Given the description of an element on the screen output the (x, y) to click on. 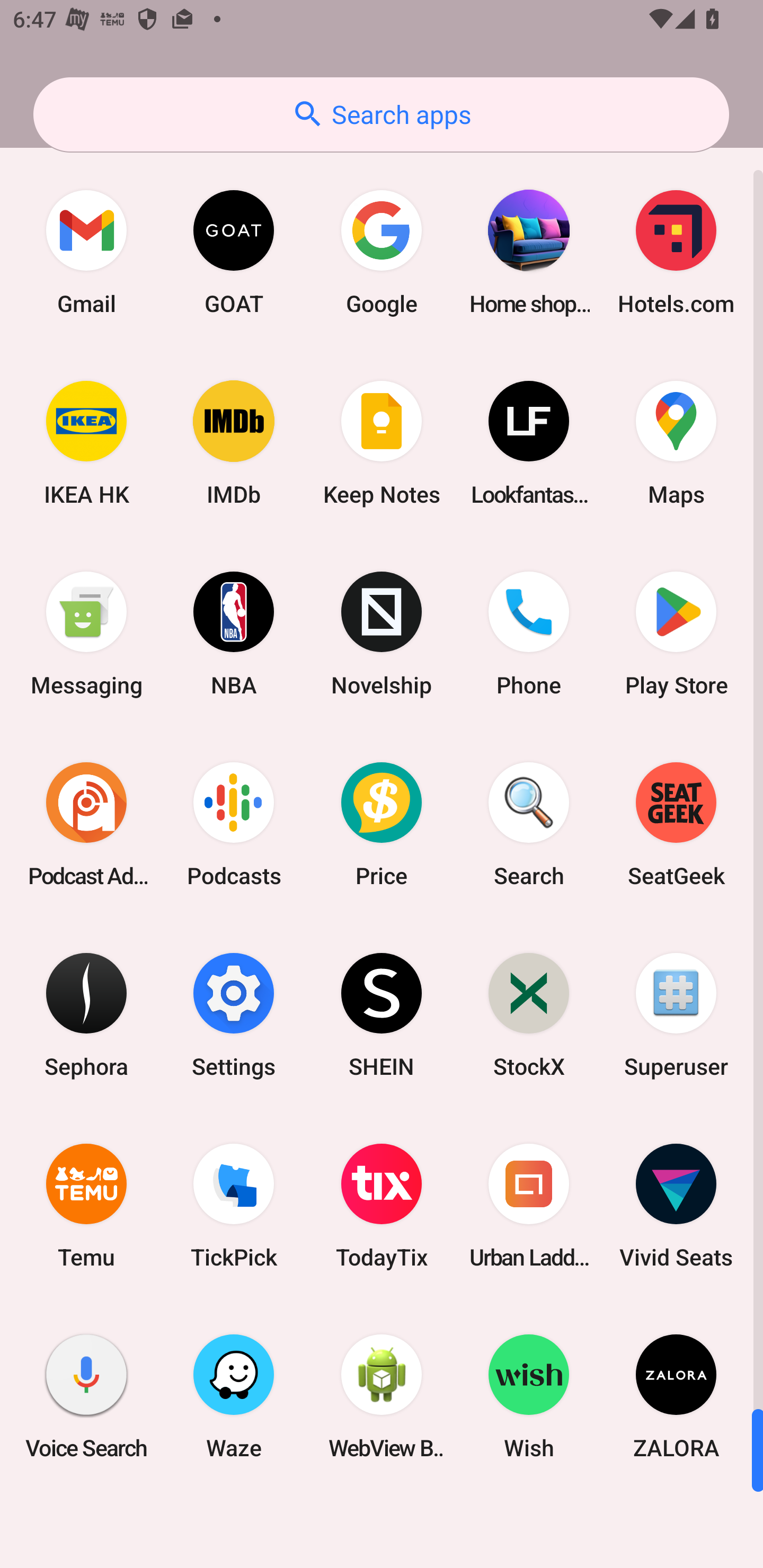
  Search apps (381, 114)
Gmail (86, 252)
GOAT (233, 252)
Google (381, 252)
Home shopping (528, 252)
Hotels.com (676, 252)
IKEA HK (86, 442)
IMDb (233, 442)
Keep Notes (381, 442)
Lookfantastic (528, 442)
Maps (676, 442)
Messaging (86, 633)
NBA (233, 633)
Novelship (381, 633)
Phone (528, 633)
Play Store (676, 633)
Podcast Addict (86, 823)
Podcasts (233, 823)
Price (381, 823)
Search (528, 823)
SeatGeek (676, 823)
Sephora (86, 1014)
Settings (233, 1014)
SHEIN (381, 1014)
StockX (528, 1014)
Superuser (676, 1014)
Temu (86, 1205)
TickPick (233, 1205)
TodayTix (381, 1205)
Urban Ladder (528, 1205)
Vivid Seats (676, 1205)
Voice Search (86, 1396)
Waze (233, 1396)
WebView Browser Tester (381, 1396)
Wish (528, 1396)
ZALORA (676, 1396)
